Given the description of an element on the screen output the (x, y) to click on. 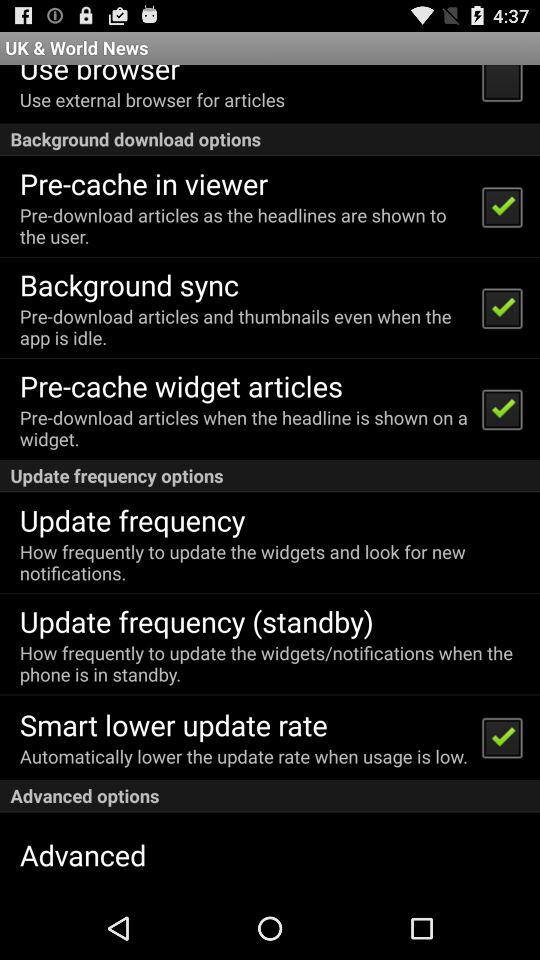
turn on app below the automatically lower the item (270, 796)
